Given the description of an element on the screen output the (x, y) to click on. 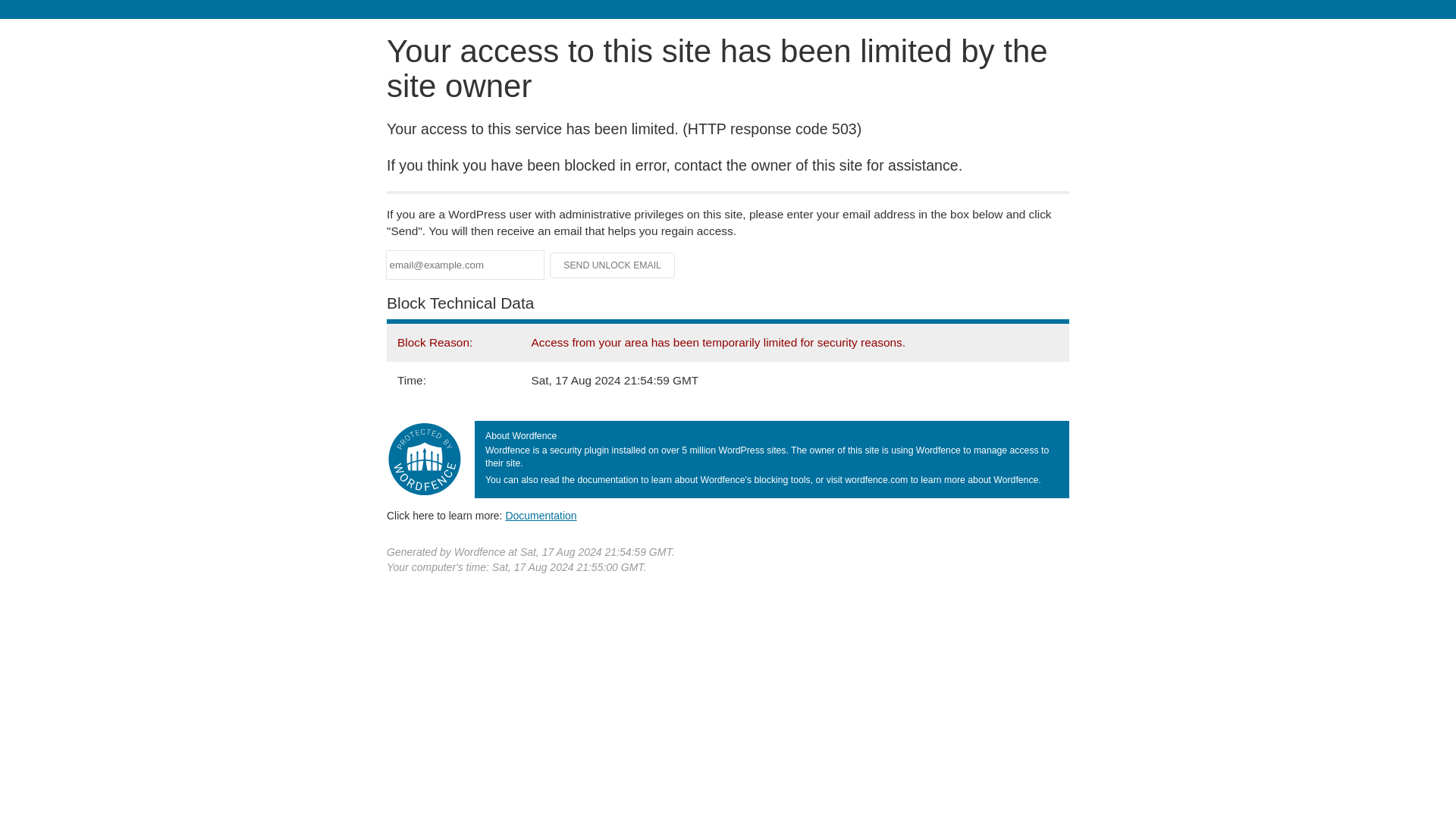
Send Unlock Email (612, 265)
Send Unlock Email (612, 265)
Documentation (540, 515)
